Given the description of an element on the screen output the (x, y) to click on. 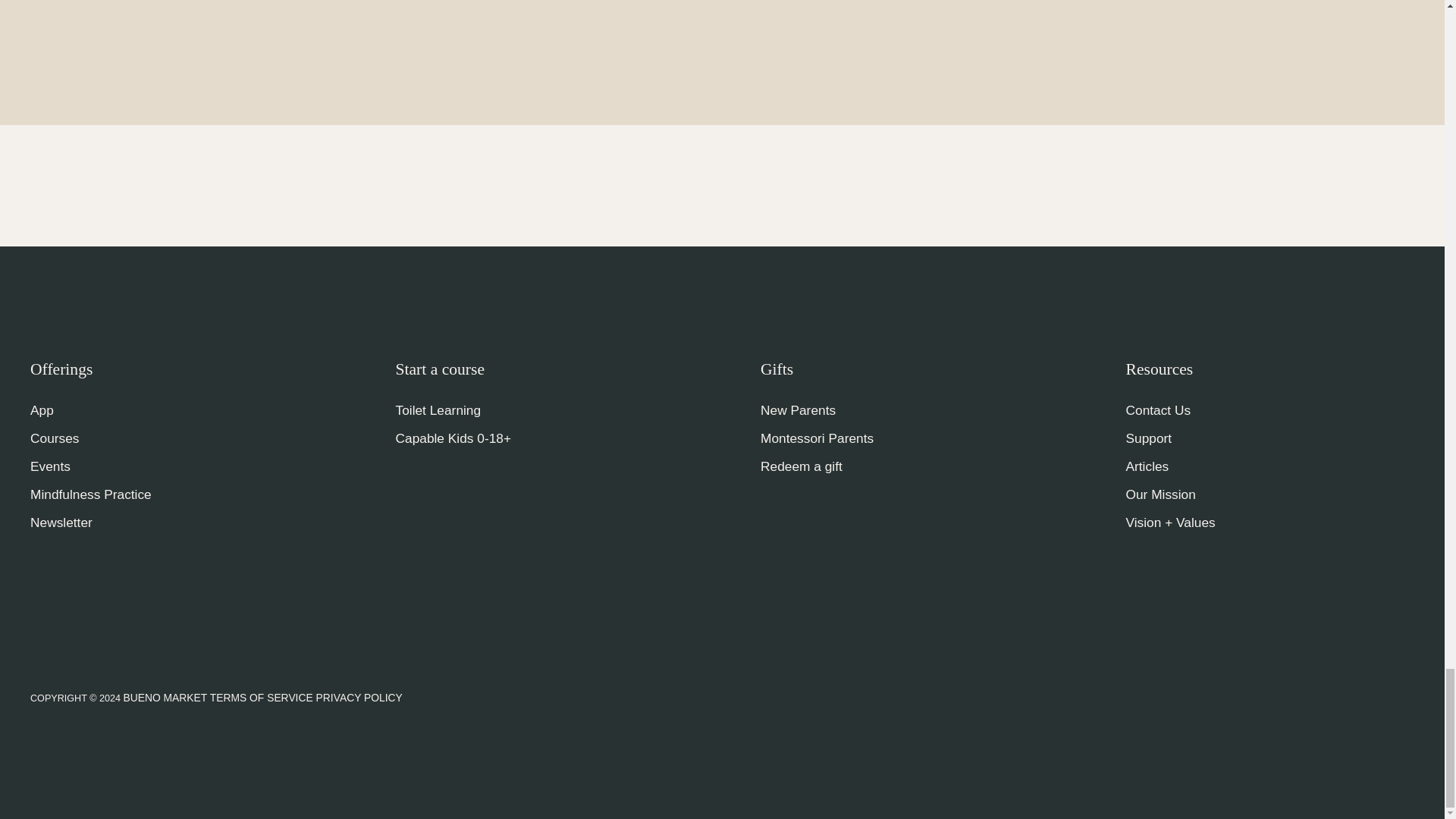
BUENO MARKET (164, 697)
Courses (54, 438)
Events (49, 466)
Mindfulness Practice (90, 495)
Contact Us (1158, 411)
PRIVACY POLICY (358, 697)
Articles (1147, 466)
App (41, 411)
Toilet Learning (438, 411)
Our Mission (1160, 495)
New Parents (797, 411)
TERMS OF SERVICE (259, 697)
Support (1148, 438)
Montessori Parents (816, 438)
Redeem a gift (801, 466)
